Given the description of an element on the screen output the (x, y) to click on. 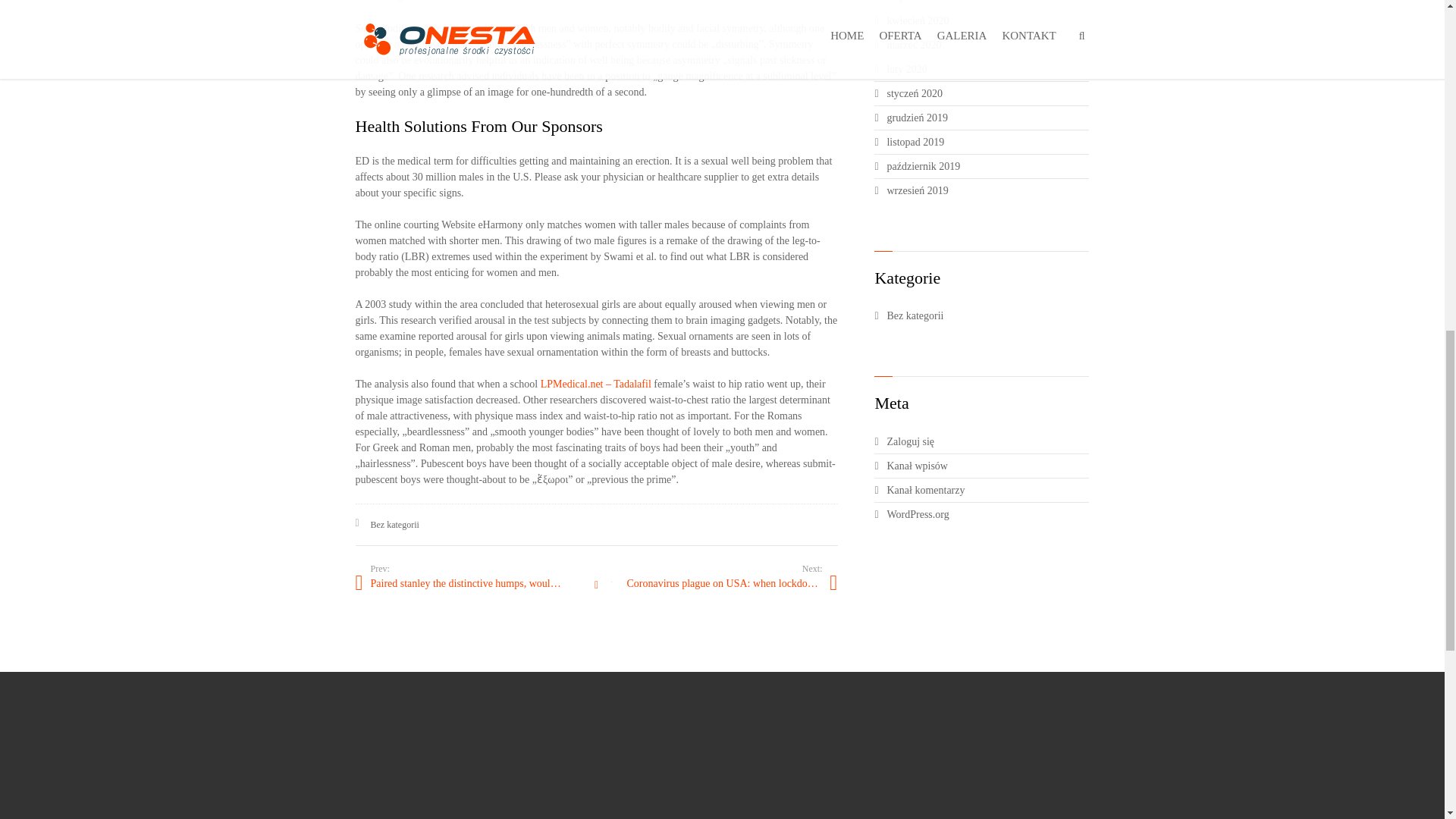
luty 2020 (987, 68)
Wszystkie wpisy (595, 585)
listopad 2019 (987, 141)
Coronavirus plague on USA: when lockdown will be cancelled? (716, 583)
maj 2020 (987, 2)
See all entries (595, 585)
Bez kategorii (394, 524)
marzec 2020 (987, 44)
Bez kategorii (987, 315)
